Given the description of an element on the screen output the (x, y) to click on. 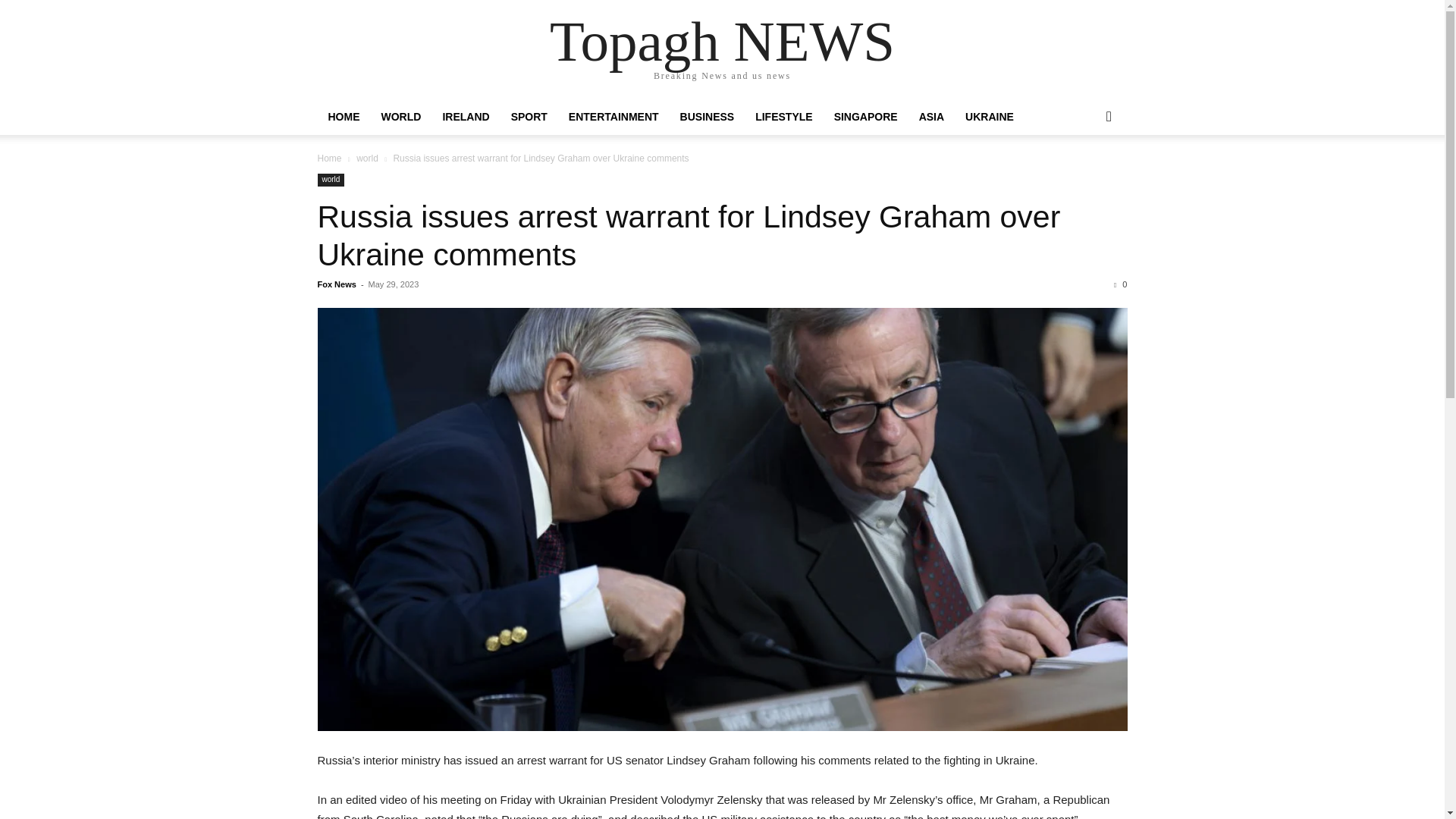
SINGAPORE (866, 116)
BUSINESS (707, 116)
ENTERTAINMENT (613, 116)
View all posts in world (367, 158)
world (367, 158)
WORLD (399, 116)
HOME (343, 116)
Topagh NEWS (722, 41)
Home (328, 158)
SPORT (528, 116)
